Given the description of an element on the screen output the (x, y) to click on. 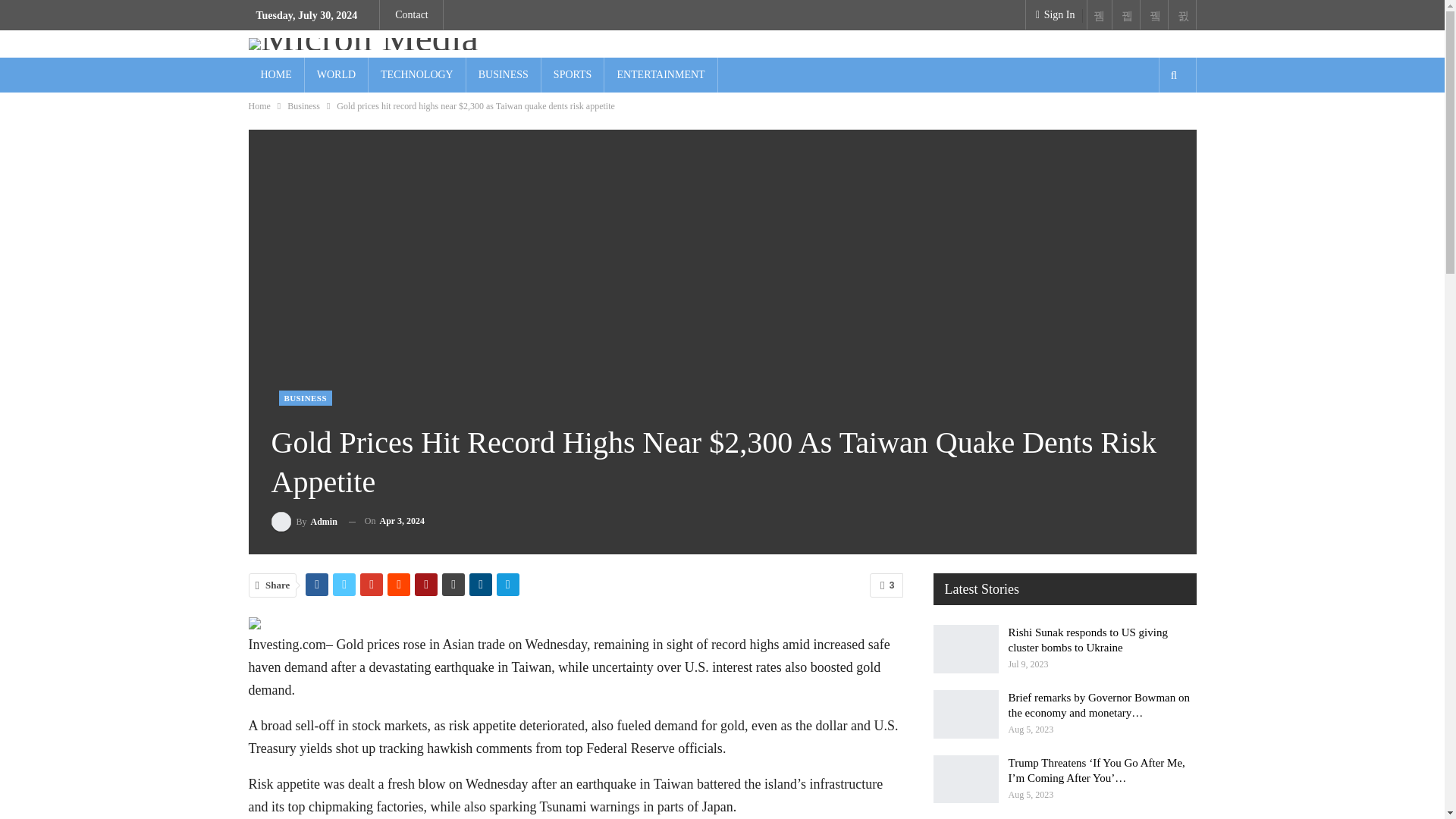
ENTERTAINMENT (660, 74)
By Admin (303, 521)
BUSINESS (502, 74)
Contact (411, 14)
SPORTS (572, 74)
Browse Author Articles (303, 521)
Home (259, 105)
HOME (276, 74)
Rishi Sunak responds to US giving cluster bombs to Ukraine (965, 648)
WORLD (336, 74)
Business (303, 105)
TECHNOLOGY (416, 74)
Sign In (1052, 15)
BUSINESS (305, 397)
